Given the description of an element on the screen output the (x, y) to click on. 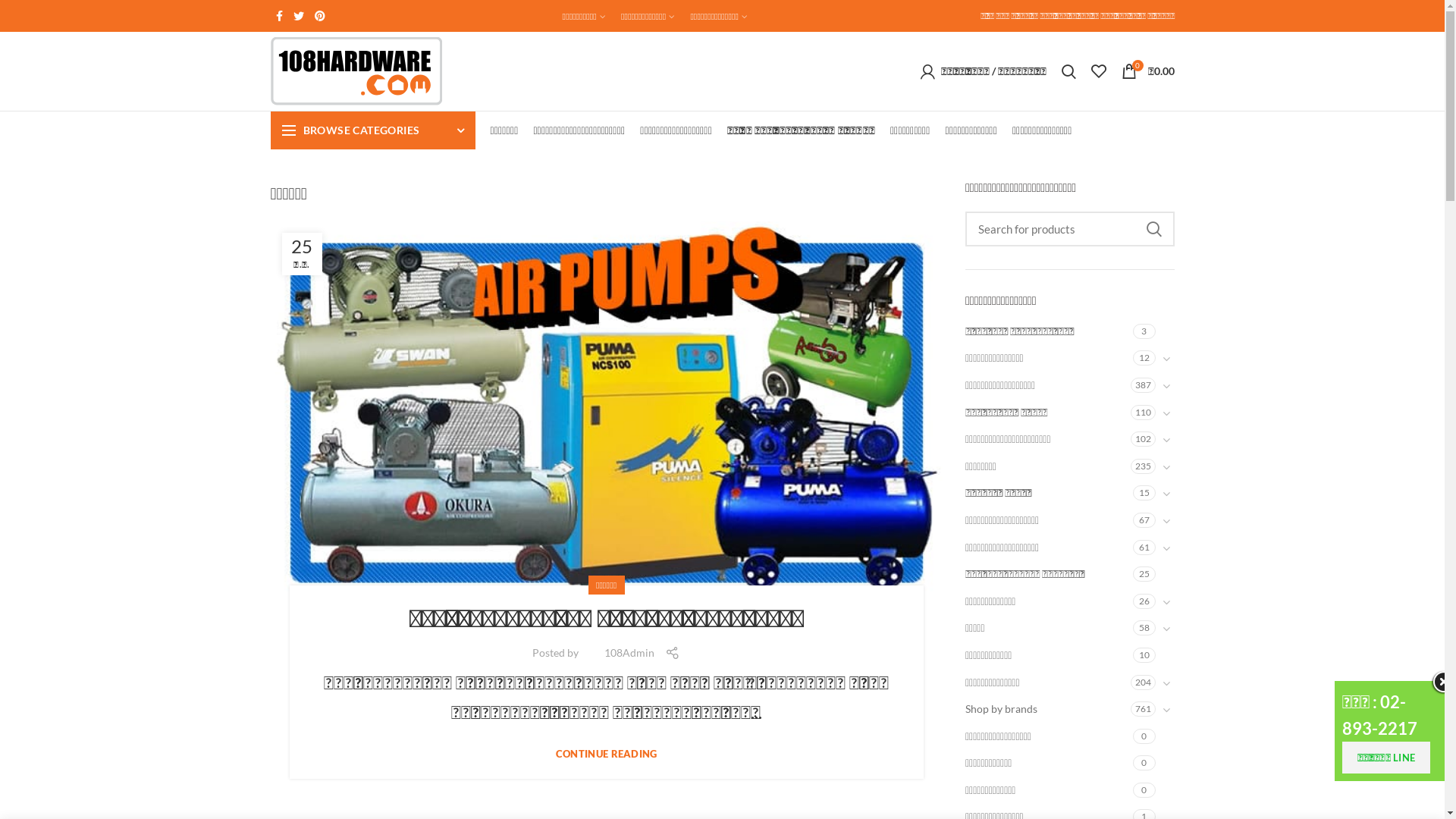
Pinterest Element type: text (319, 15)
Log in Element type: text (920, 298)
Shop by brands Element type: text (1047, 708)
My Wishlist Element type: hover (1097, 71)
Facebook Element type: text (278, 15)
108Admin Element type: text (629, 652)
Twitter Element type: text (298, 15)
CONTINUE READING Element type: text (606, 754)
SEARCH Element type: text (1153, 228)
air_pump_000 Element type: hover (606, 412)
Search Element type: hover (1068, 71)
